Given the description of an element on the screen output the (x, y) to click on. 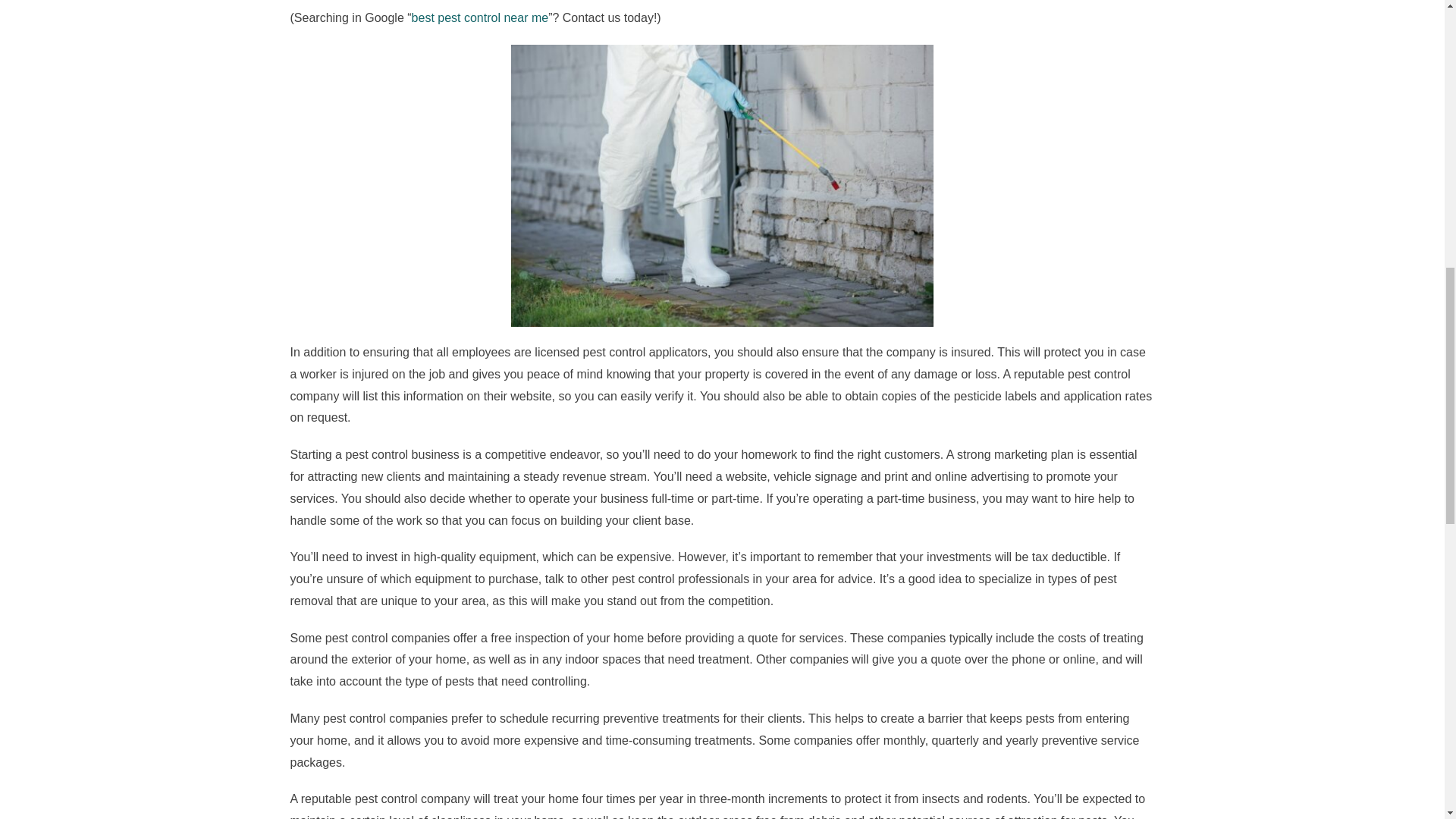
best pest control near me (480, 17)
